Given the description of an element on the screen output the (x, y) to click on. 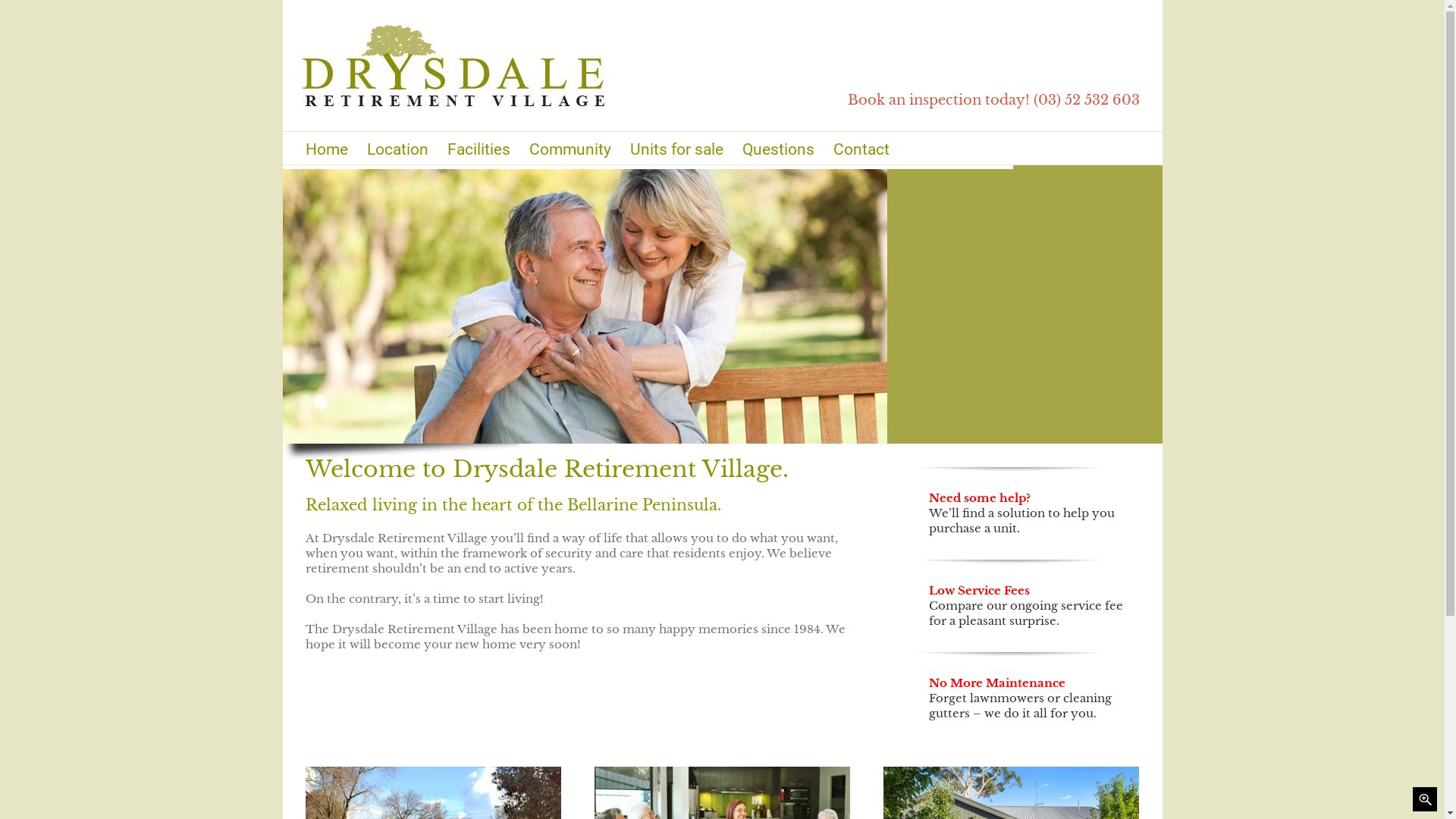
Location Element type: text (397, 147)
Low Service Fees Element type: text (978, 590)
Units for sale Element type: text (675, 147)
Home Element type: text (325, 147)
Community Element type: text (570, 147)
Questions Element type: text (777, 147)
Facilities Element type: text (478, 147)
No More Maintenance Element type: text (996, 682)
Need some help? Element type: text (979, 497)
Contact Element type: text (860, 147)
